Given the description of an element on the screen output the (x, y) to click on. 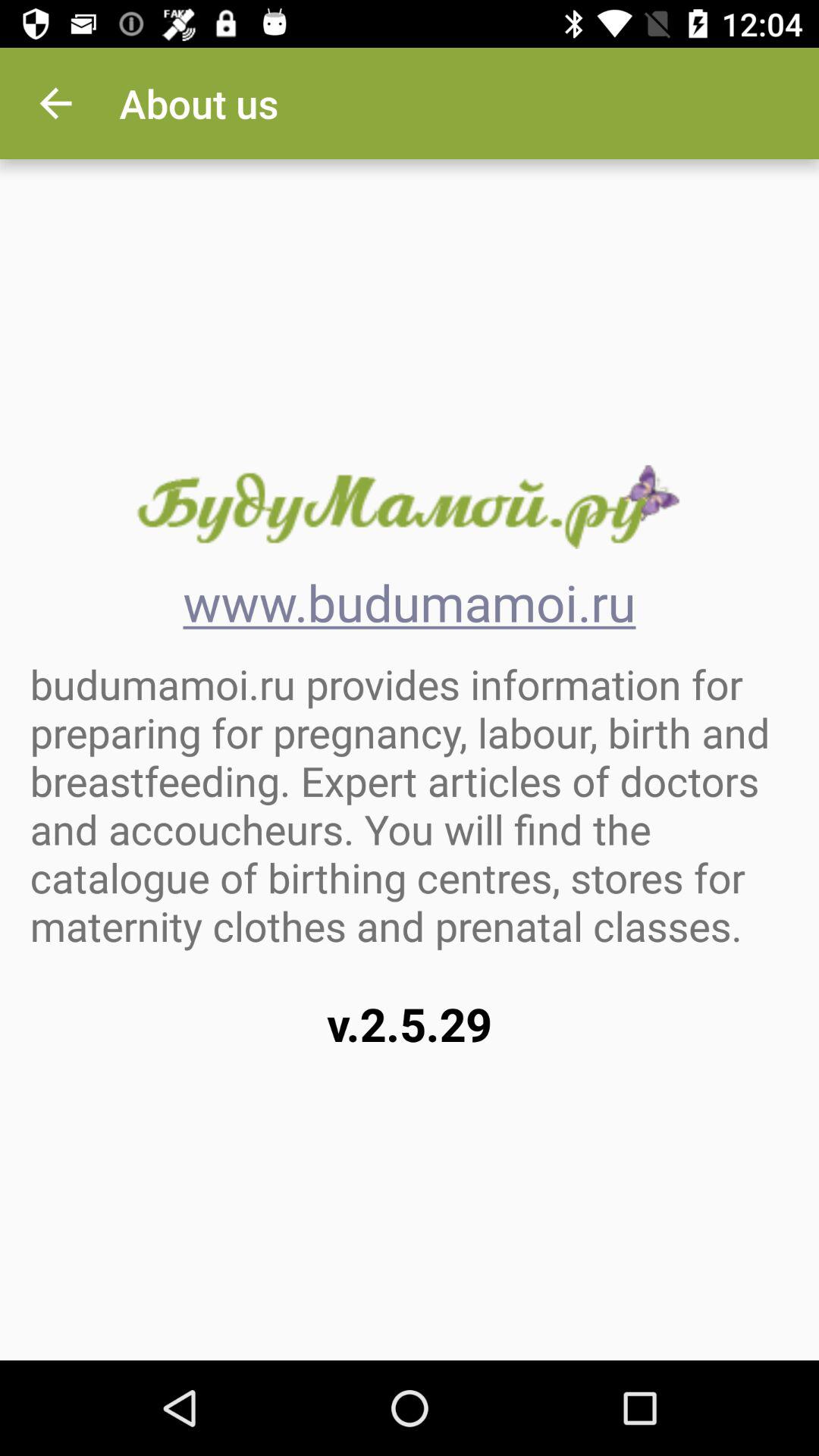
go to website (409, 506)
